Given the description of an element on the screen output the (x, y) to click on. 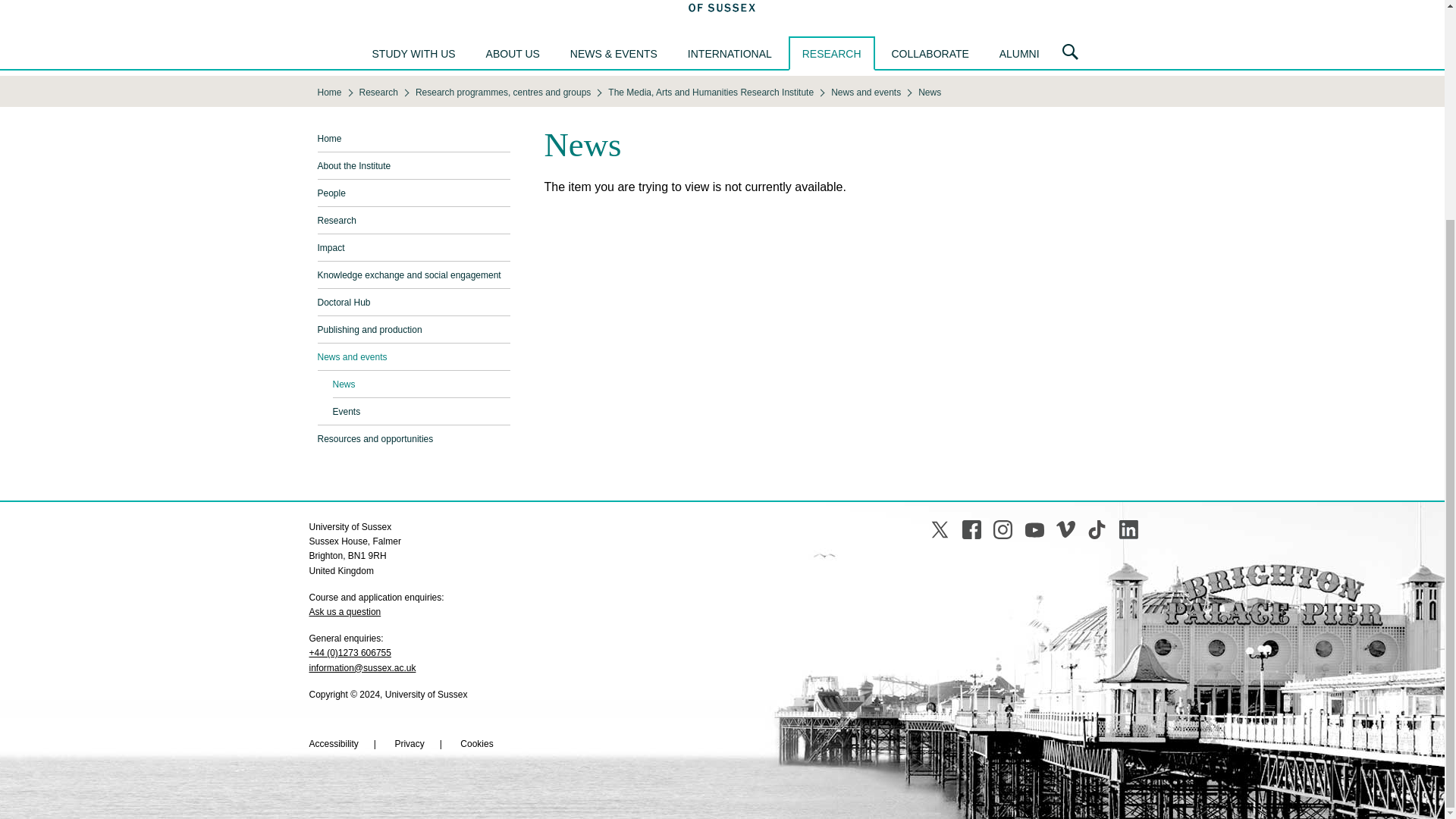
Vimeo (1066, 529)
YouTube (1034, 529)
Instagram (1001, 529)
STUDY WITH US (413, 53)
Search (1070, 52)
University of Sussex (722, 8)
Twitter (939, 529)
Linkedin (1128, 529)
Tiktok (1096, 529)
Facebook (971, 529)
